Given the description of an element on the screen output the (x, y) to click on. 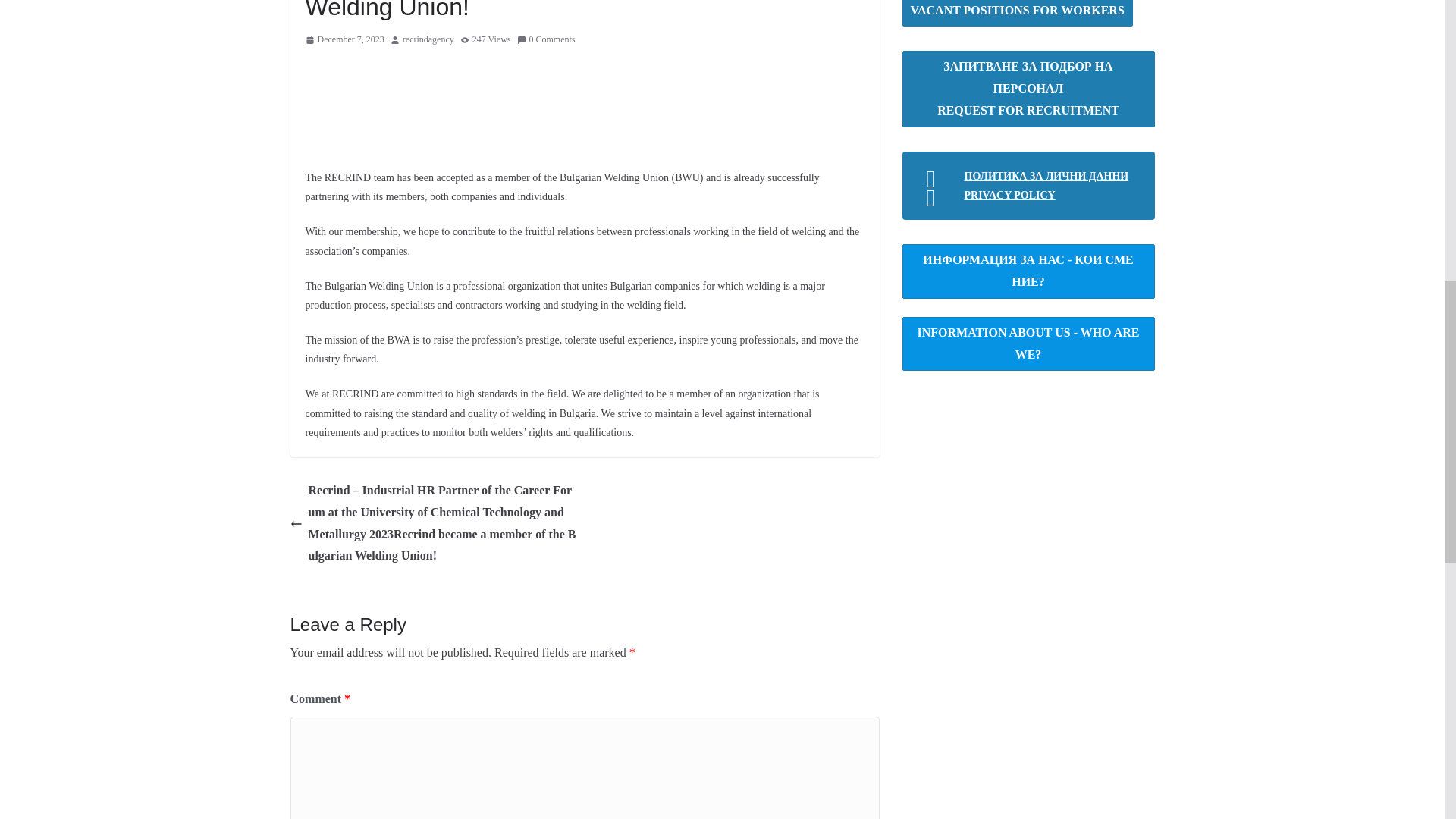
0 Comments (545, 39)
recrindagency (428, 39)
December 7, 2023 (344, 39)
10:07 am (344, 39)
recrindagency (428, 39)
